Given the description of an element on the screen output the (x, y) to click on. 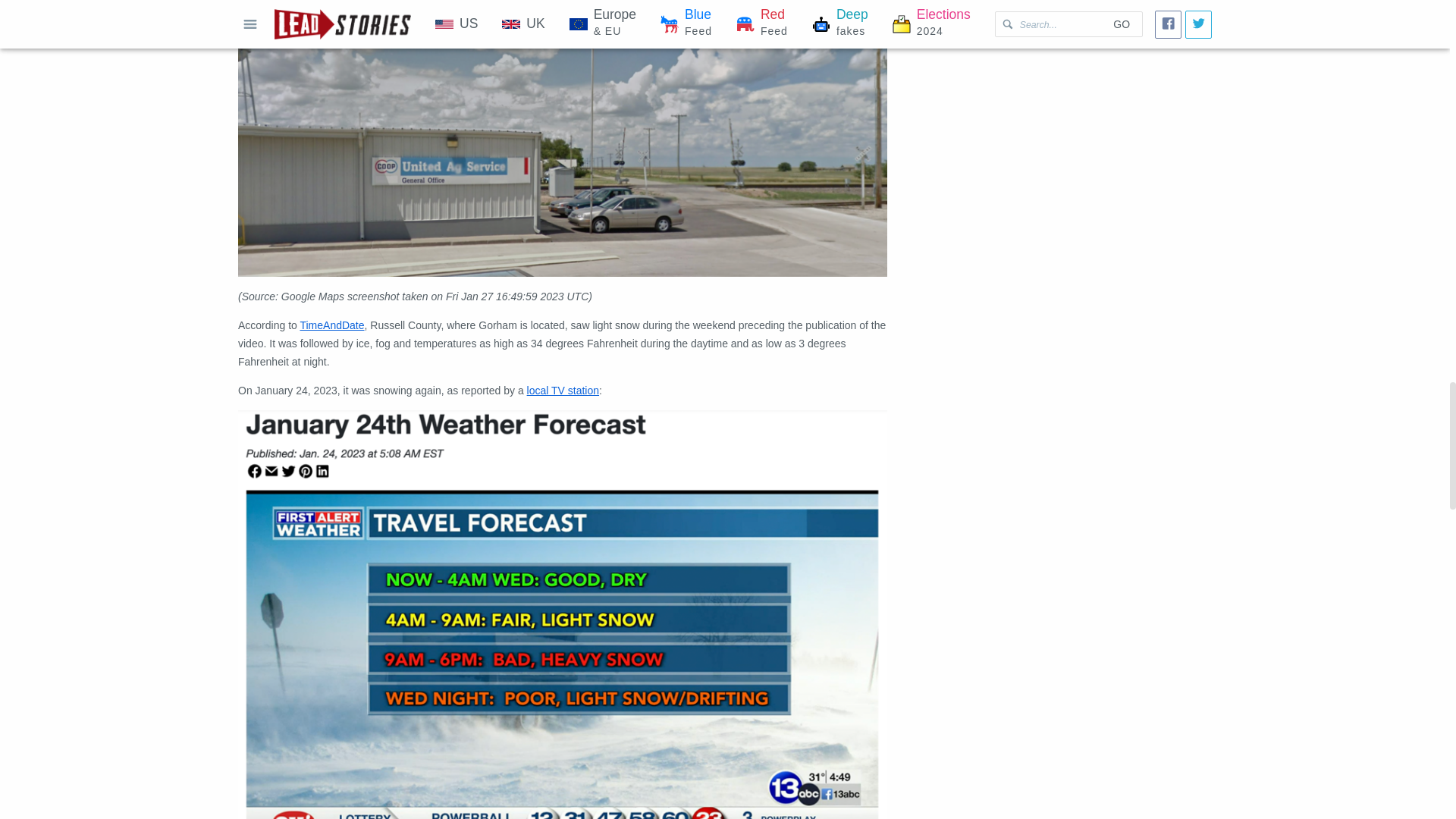
local TV station (562, 390)
TimeAndDate (331, 325)
